Given the description of an element on the screen output the (x, y) to click on. 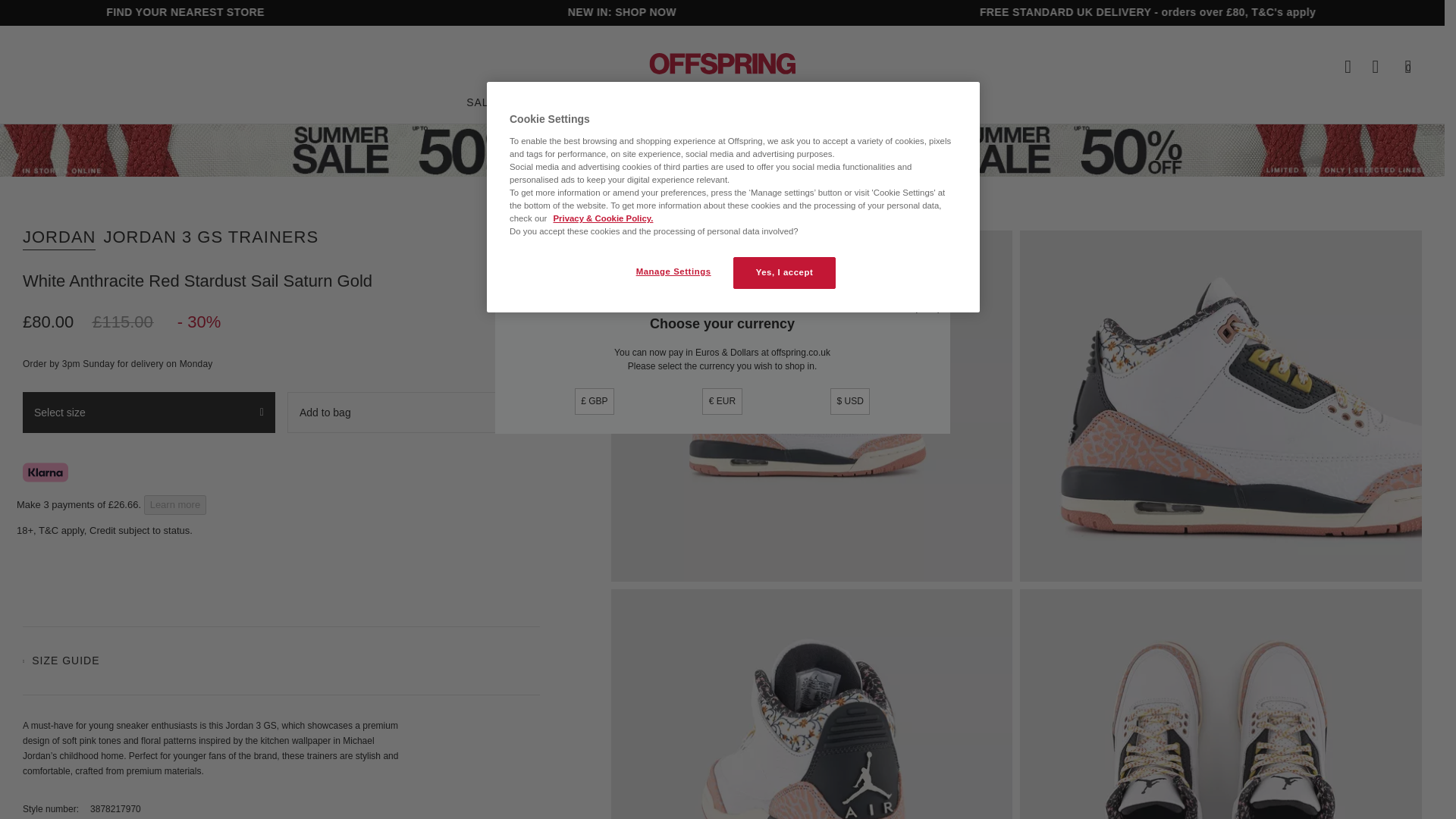
JordanJordan 3 GS Trainers  (1221, 703)
FIND YOUR NEAREST STORE (228, 11)
JordanJordan 3 GS Trainers  (810, 703)
SALE (480, 101)
PayPal Message 1 (281, 568)
MEN (612, 101)
offspring (721, 62)
NEW IN: SHOP NOW (665, 11)
NEW IN (548, 101)
